Given the description of an element on the screen output the (x, y) to click on. 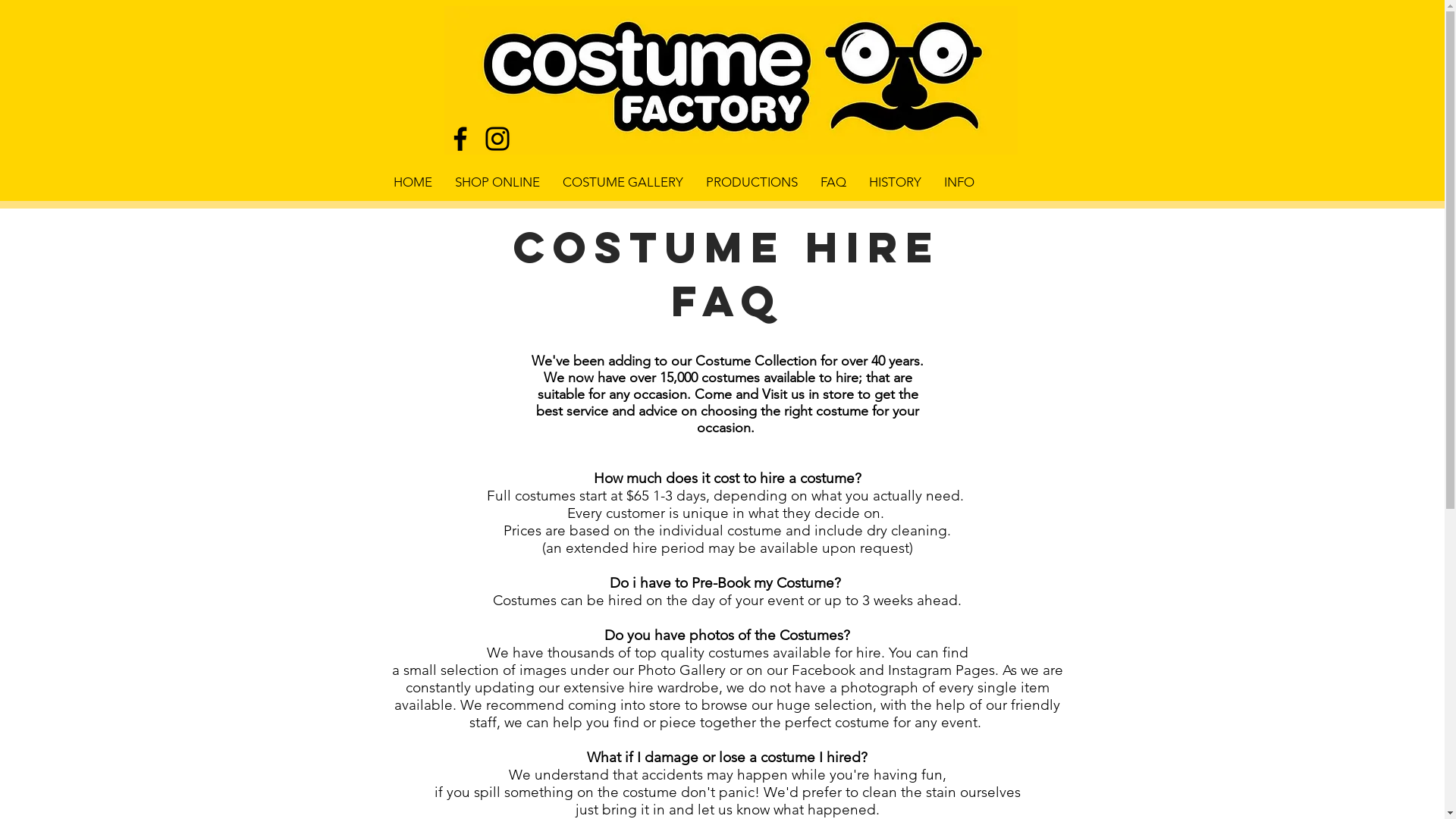
INFO Element type: text (958, 181)
PRODUCTIONS Element type: text (751, 181)
SHOP ONLINE Element type: text (496, 181)
HOME Element type: text (412, 181)
HISTORY Element type: text (893, 181)
FAQ Element type: text (832, 181)
COSTUME GALLERY Element type: text (621, 181)
